Given the description of an element on the screen output the (x, y) to click on. 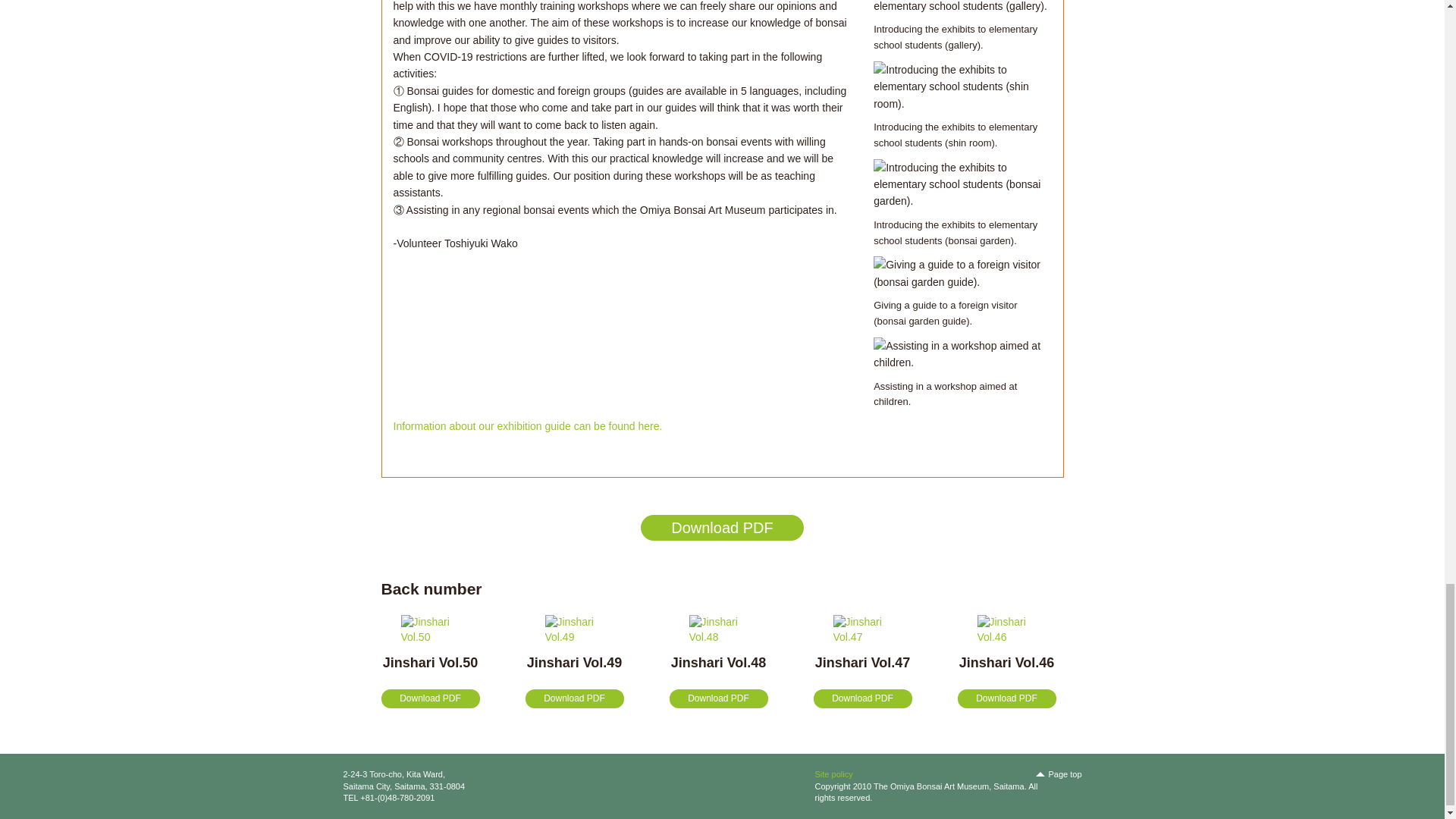
Information about our exhibition guide can be found here. (527, 426)
Download PDF (573, 698)
Download PDF (717, 698)
Download PDF (429, 698)
Download PDF (1005, 698)
Download PDF (721, 527)
Download PDF (861, 698)
